Given the description of an element on the screen output the (x, y) to click on. 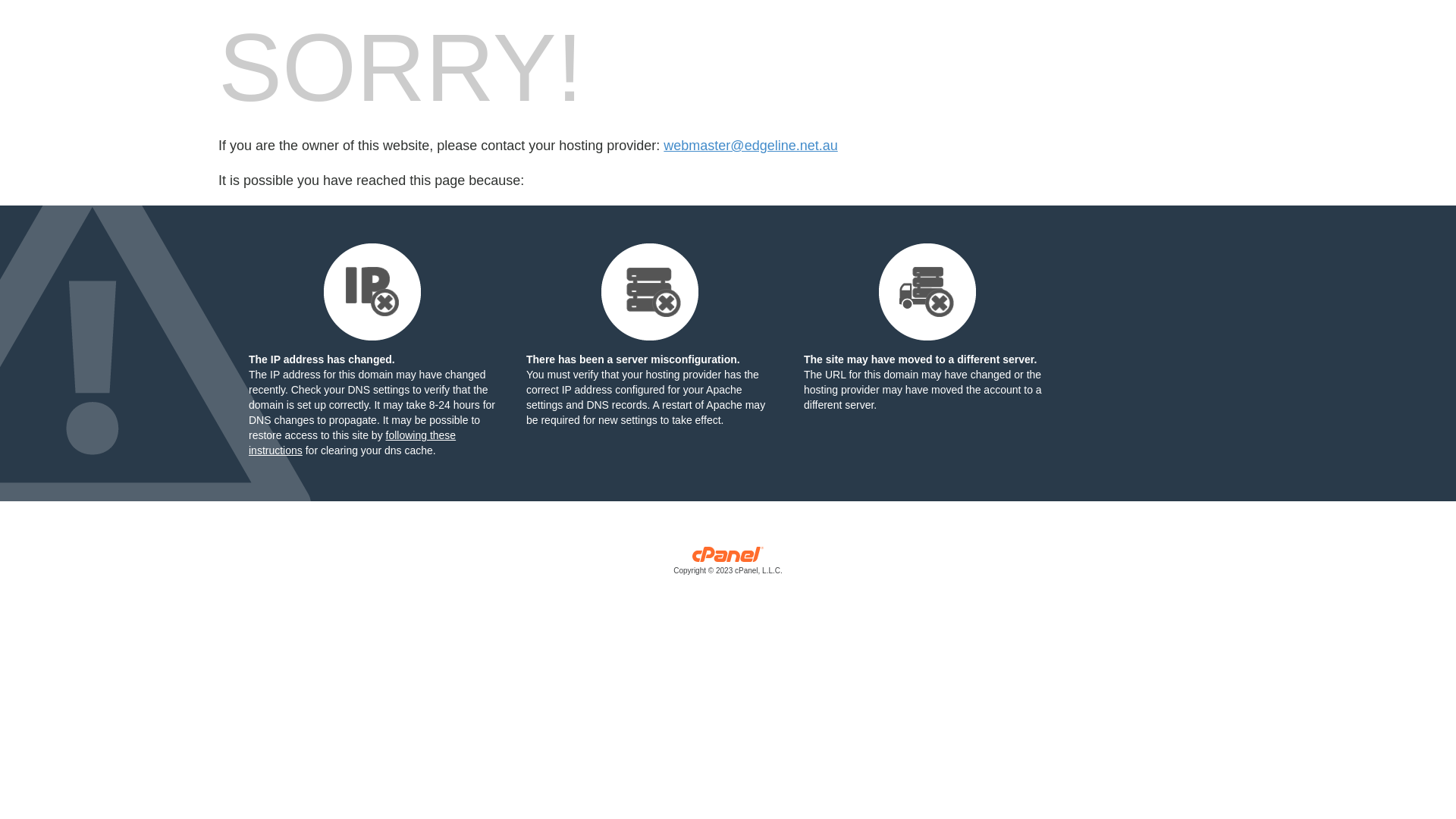
following these instructions Element type: text (351, 442)
webmaster@edgeline.net.au Element type: text (750, 145)
